Given the description of an element on the screen output the (x, y) to click on. 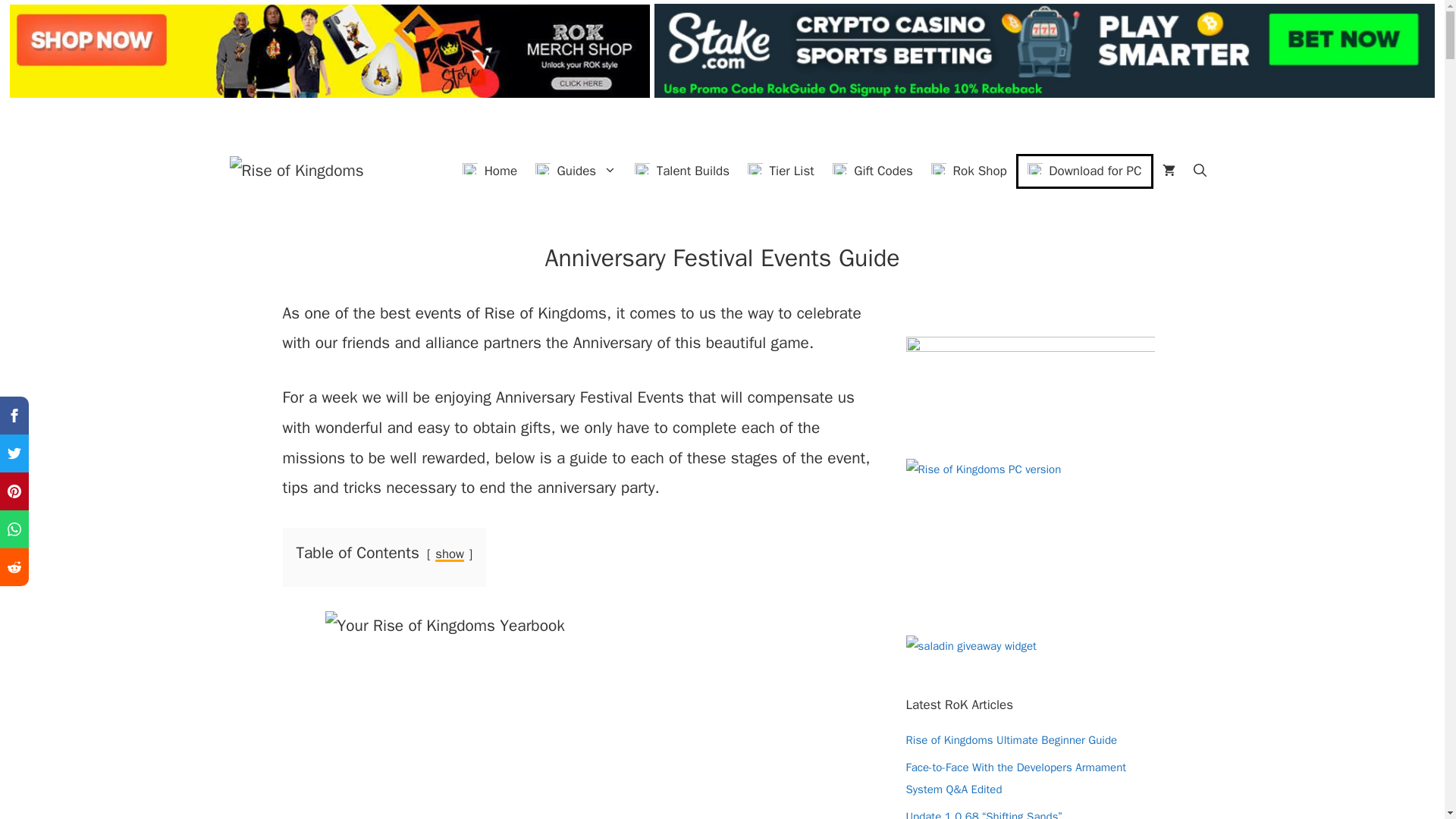
Rise of Kingdoms (295, 171)
Guides (575, 171)
Home (488, 171)
Rise of Kingdoms (295, 169)
View your shopping cart (1168, 171)
